Given the description of an element on the screen output the (x, y) to click on. 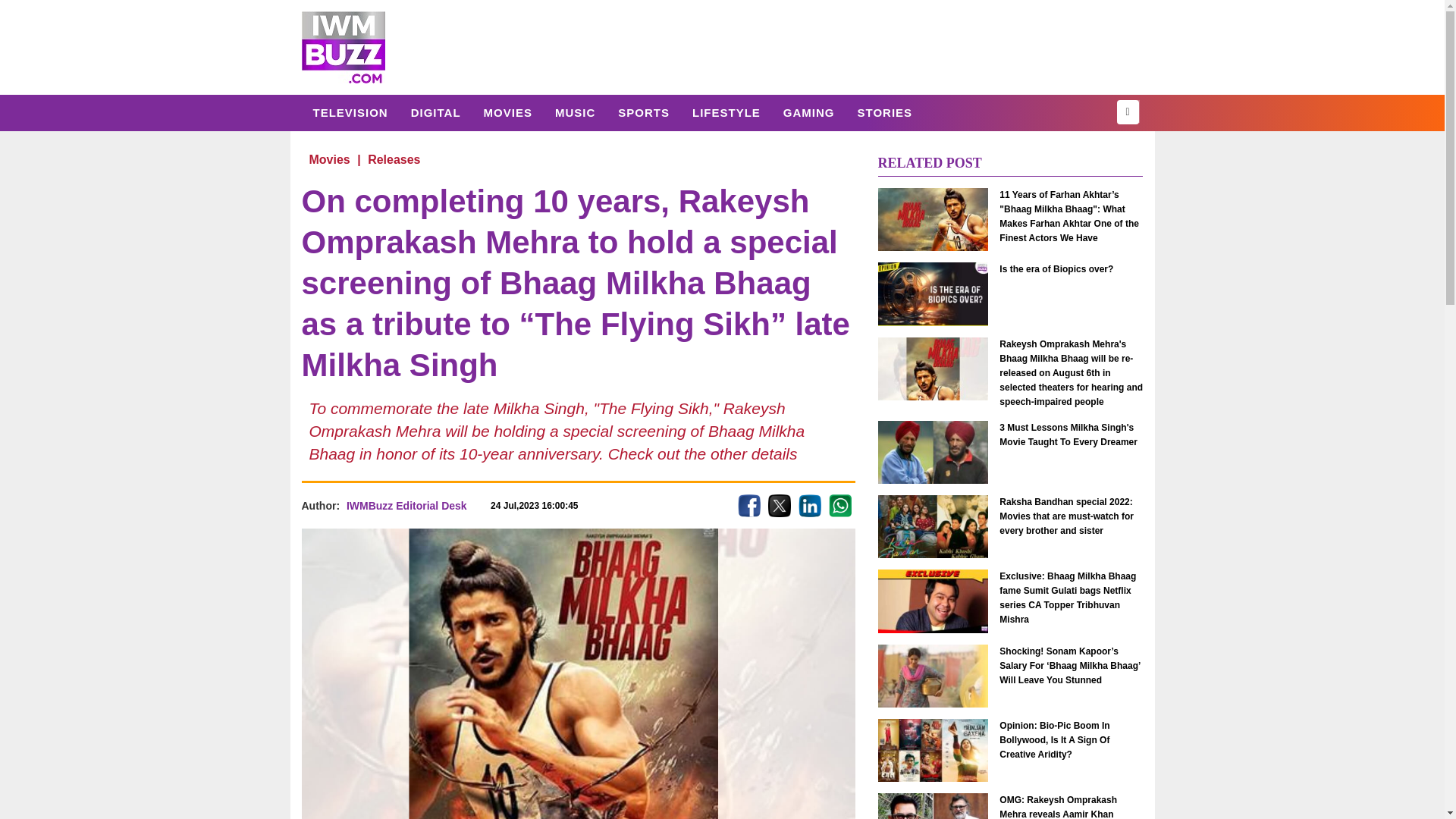
Digital (434, 112)
DIGITAL (434, 112)
Is the era of Biopics over? (1070, 269)
Is the era of Biopics over? (932, 293)
SPORTS (644, 112)
Movies (507, 112)
Releases (393, 159)
MOVIES (507, 112)
Is the era of Biopics over? (1070, 269)
IWMBuzz Editorial Desk (406, 505)
Music (575, 112)
IWMBuzz (343, 46)
STORIES (884, 112)
